Given the description of an element on the screen output the (x, y) to click on. 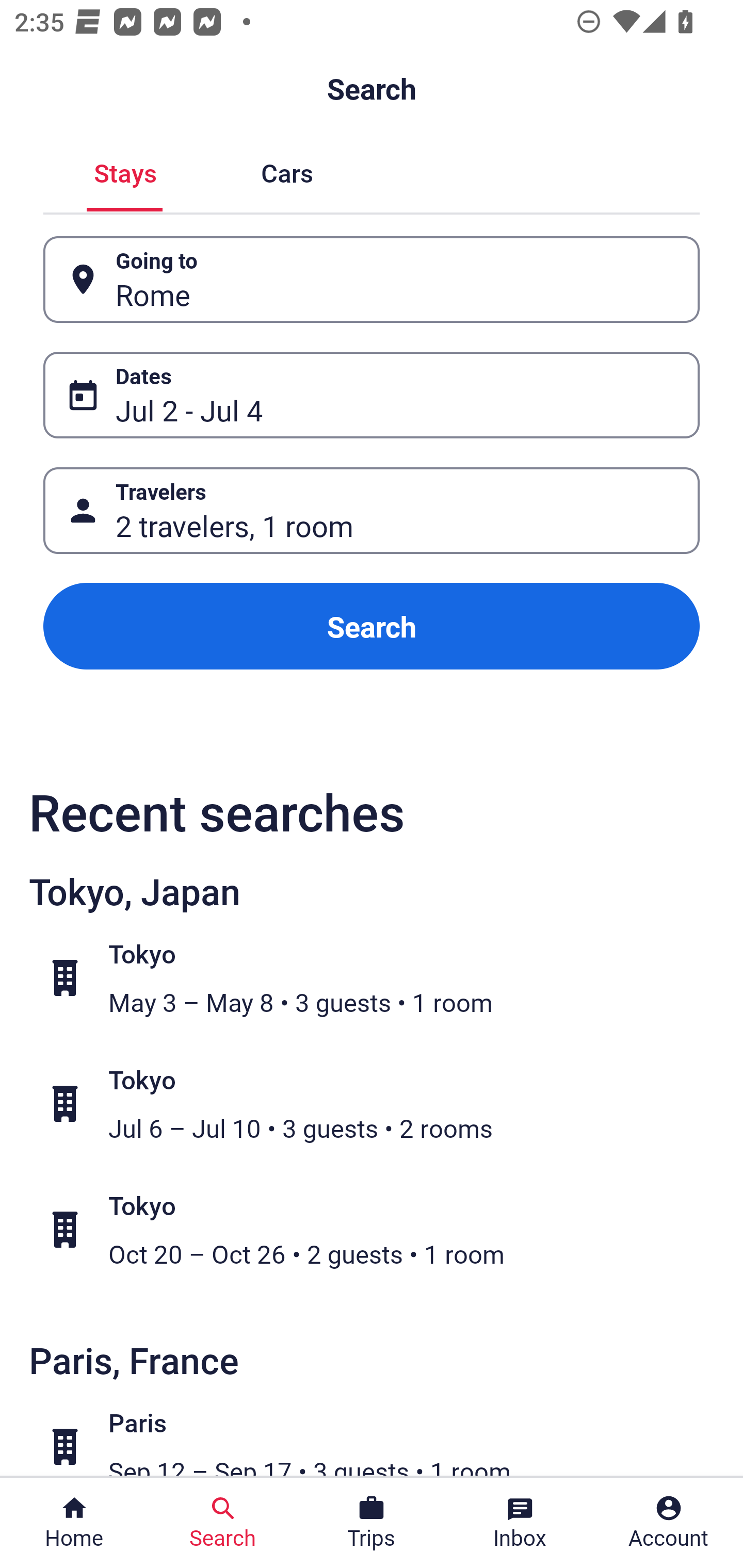
Cars (286, 171)
Going to Button Rome (371, 279)
Dates Button Jul 2 - Jul 4 (371, 395)
Travelers Button 2 travelers, 1 room (371, 510)
Search (371, 626)
Tokyo May 3 – May 8 • 3 guests • 1 room (382, 978)
Tokyo Jul 6 – Jul 10 • 3 guests • 2 rooms (382, 1103)
Tokyo Oct 20 – Oct 26 • 2 guests • 1 room (382, 1229)
Home Home Button (74, 1522)
Trips Trips Button (371, 1522)
Inbox Inbox Button (519, 1522)
Account Profile. Button (668, 1522)
